Given the description of an element on the screen output the (x, y) to click on. 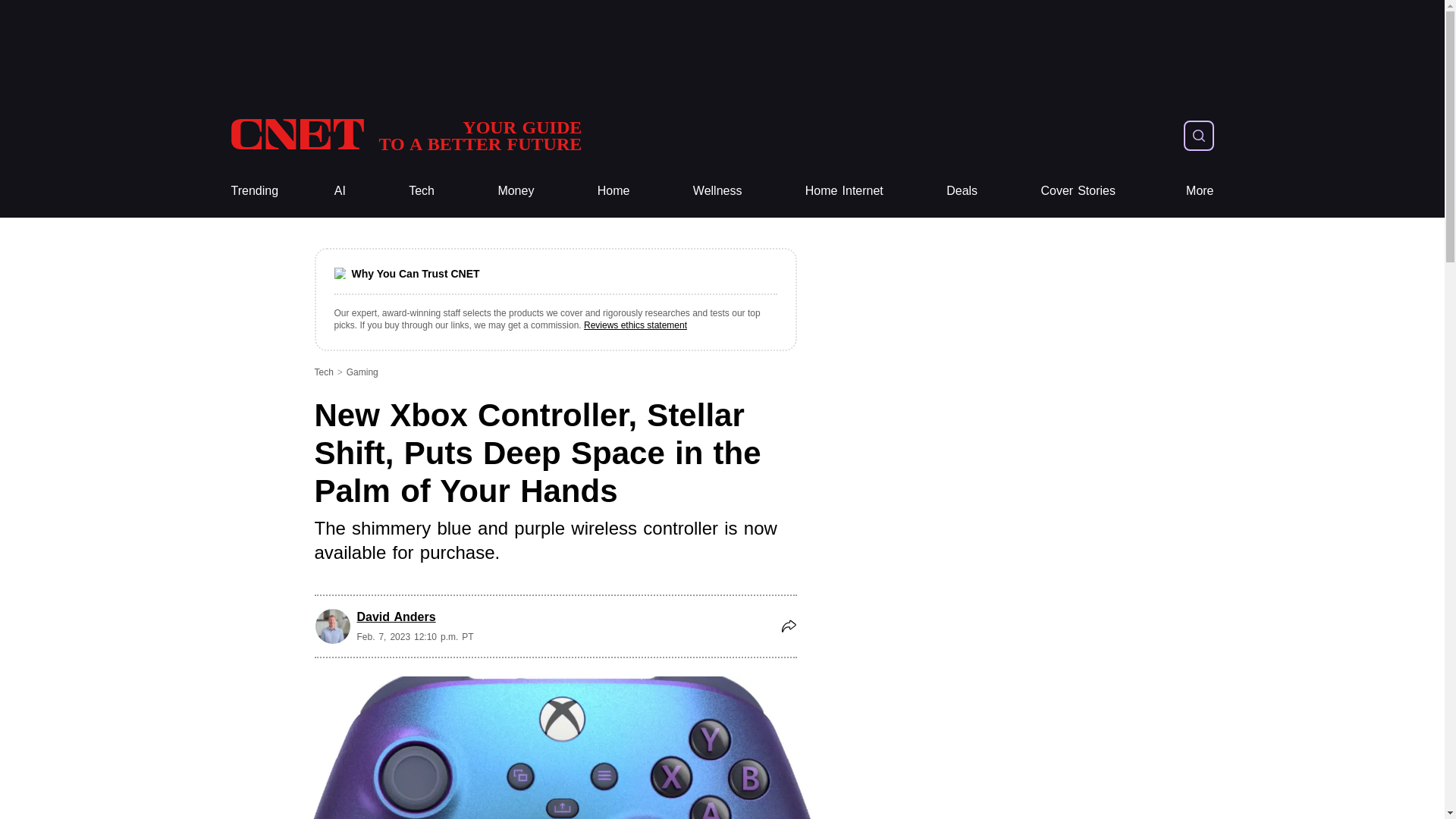
Money (515, 190)
Home Internet (844, 190)
Trending (254, 190)
Tech (421, 190)
Trending (254, 190)
Deals (961, 190)
More (1199, 190)
Home (613, 190)
Home (405, 135)
